Given the description of an element on the screen output the (x, y) to click on. 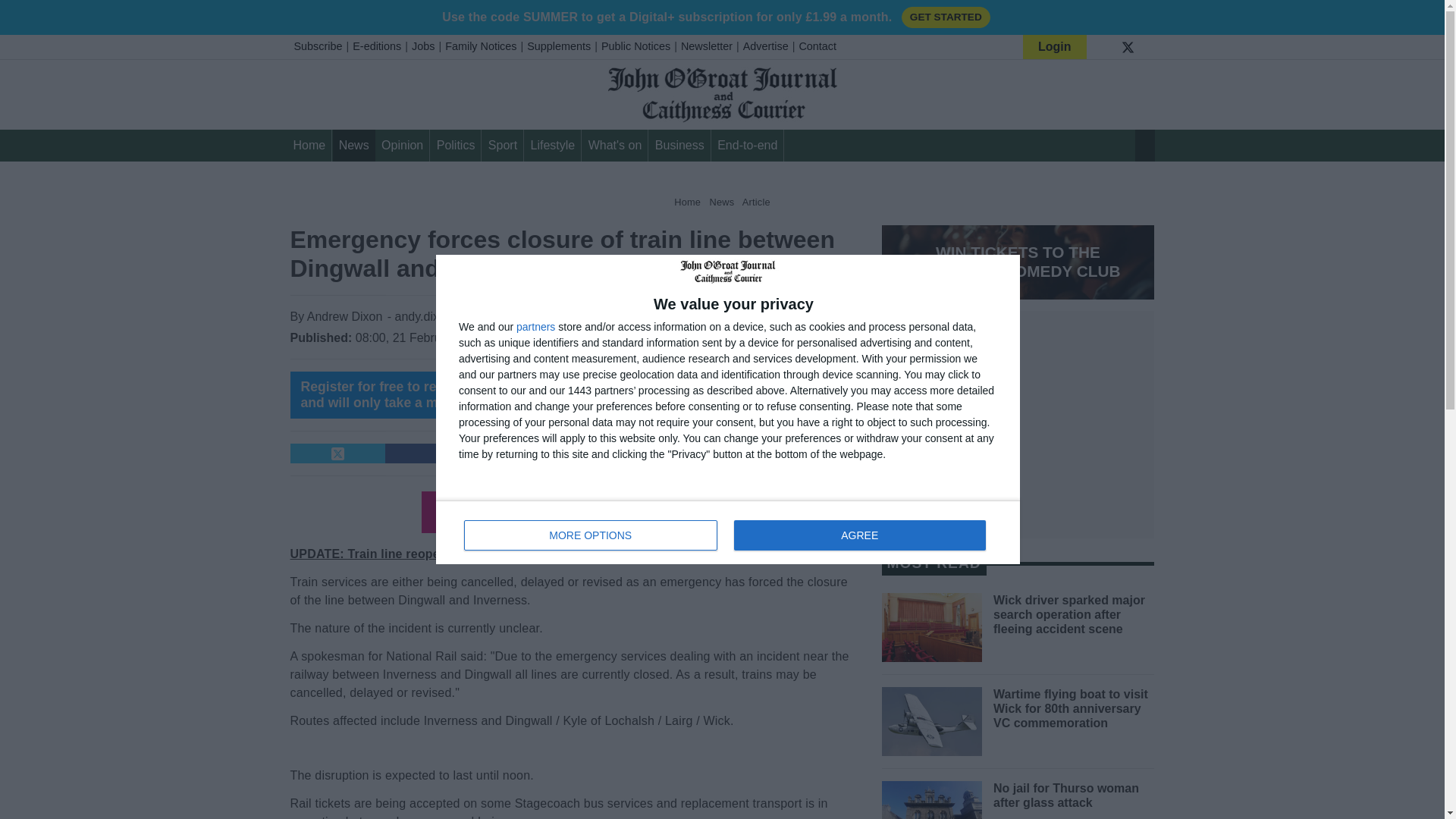
GET STARTED (945, 16)
MORE OPTIONS (590, 535)
partners (535, 326)
AGREE (727, 532)
